Given the description of an element on the screen output the (x, y) to click on. 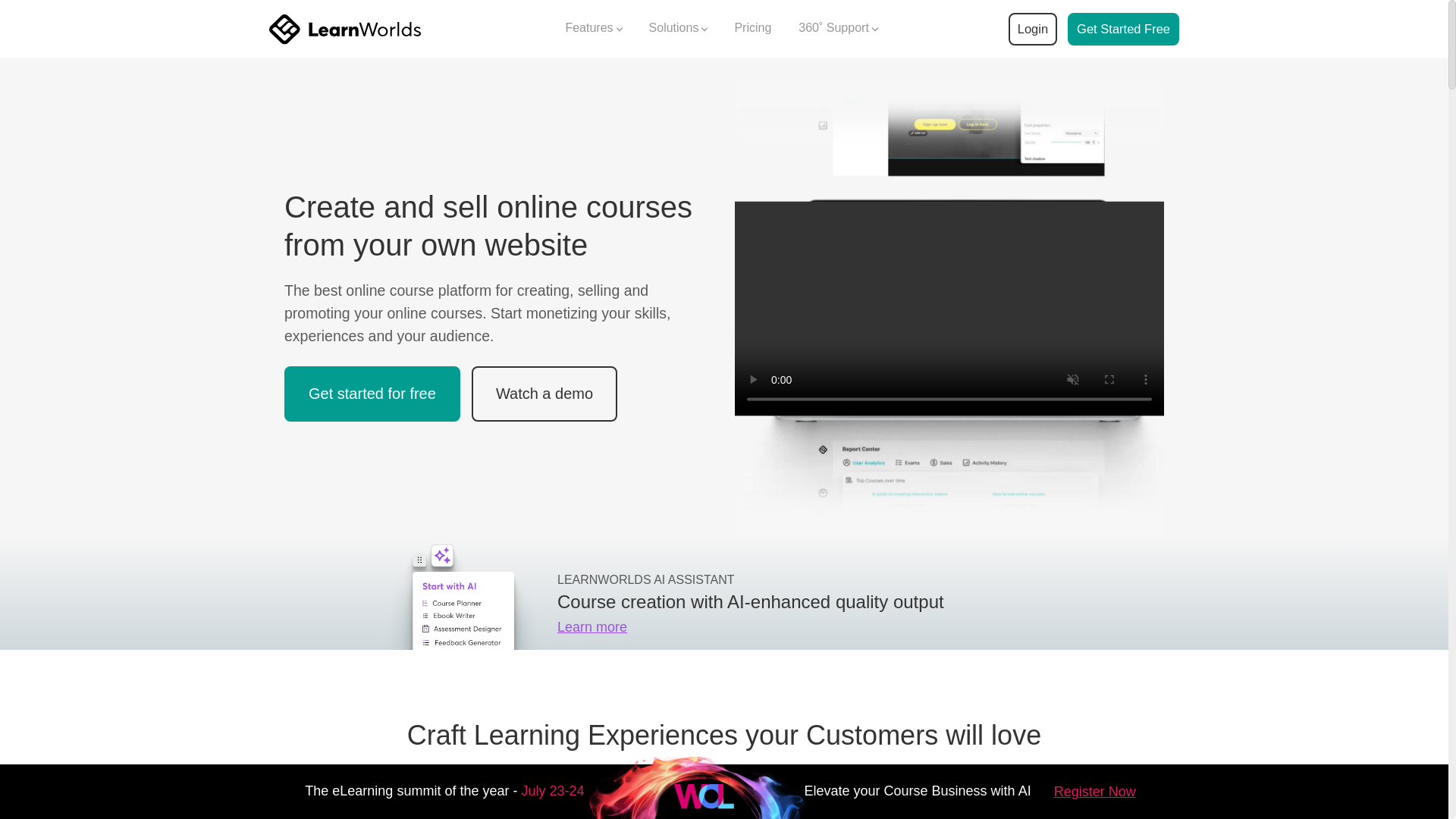
Features (592, 29)
Login to your LearnWorlds account (1032, 29)
LearnWorlds home (344, 28)
Start your demo with LearnWorlds (1123, 29)
